Given the description of an element on the screen output the (x, y) to click on. 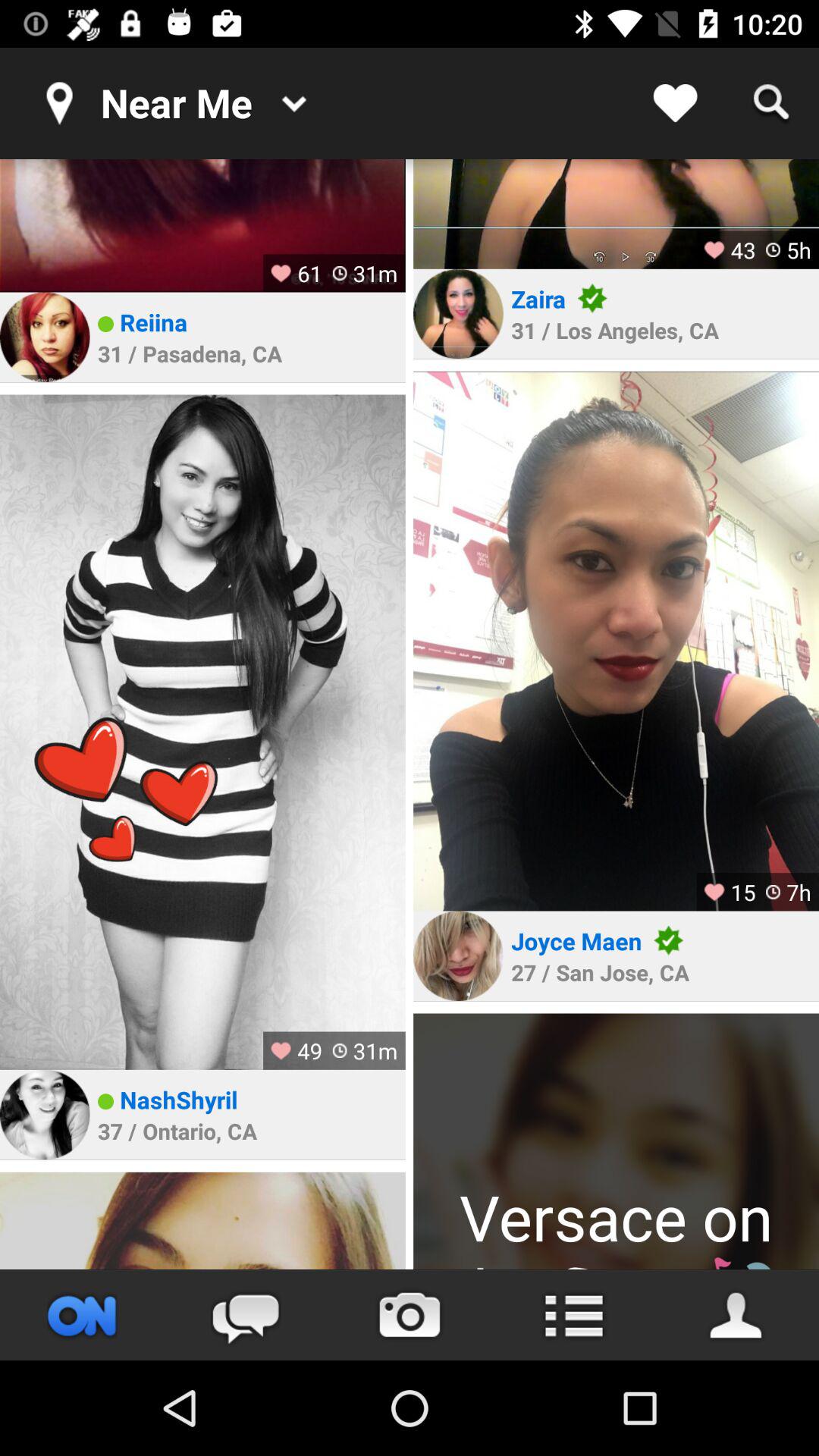
select profile (616, 214)
